Given the description of an element on the screen output the (x, y) to click on. 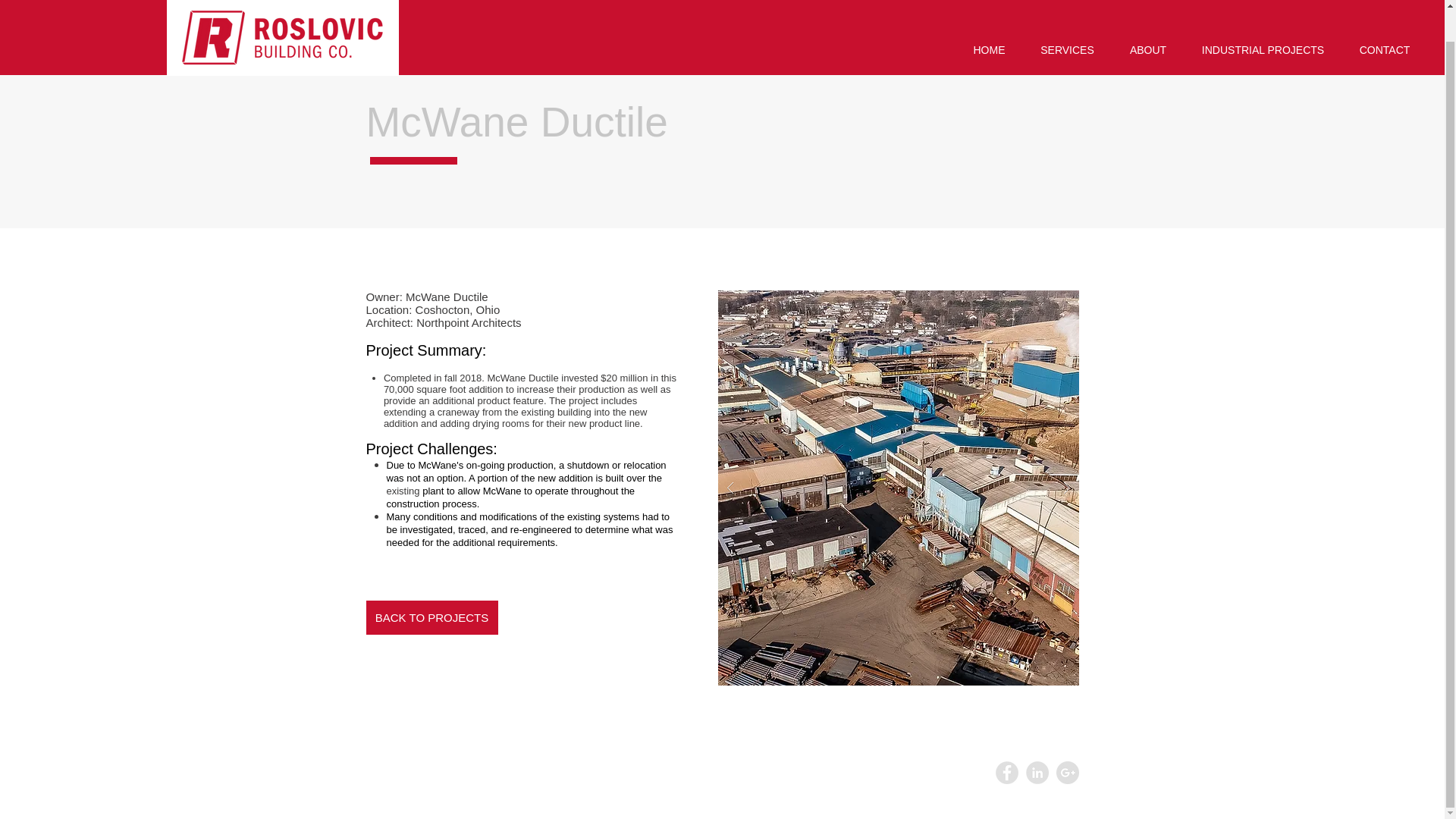
CONTACT (1384, 17)
BACK TO PROJECTS (431, 617)
INDUSTRIAL PROJECTS (1262, 17)
SERVICES (1067, 17)
HOME (989, 17)
ABOUT (1147, 17)
